Given the description of an element on the screen output the (x, y) to click on. 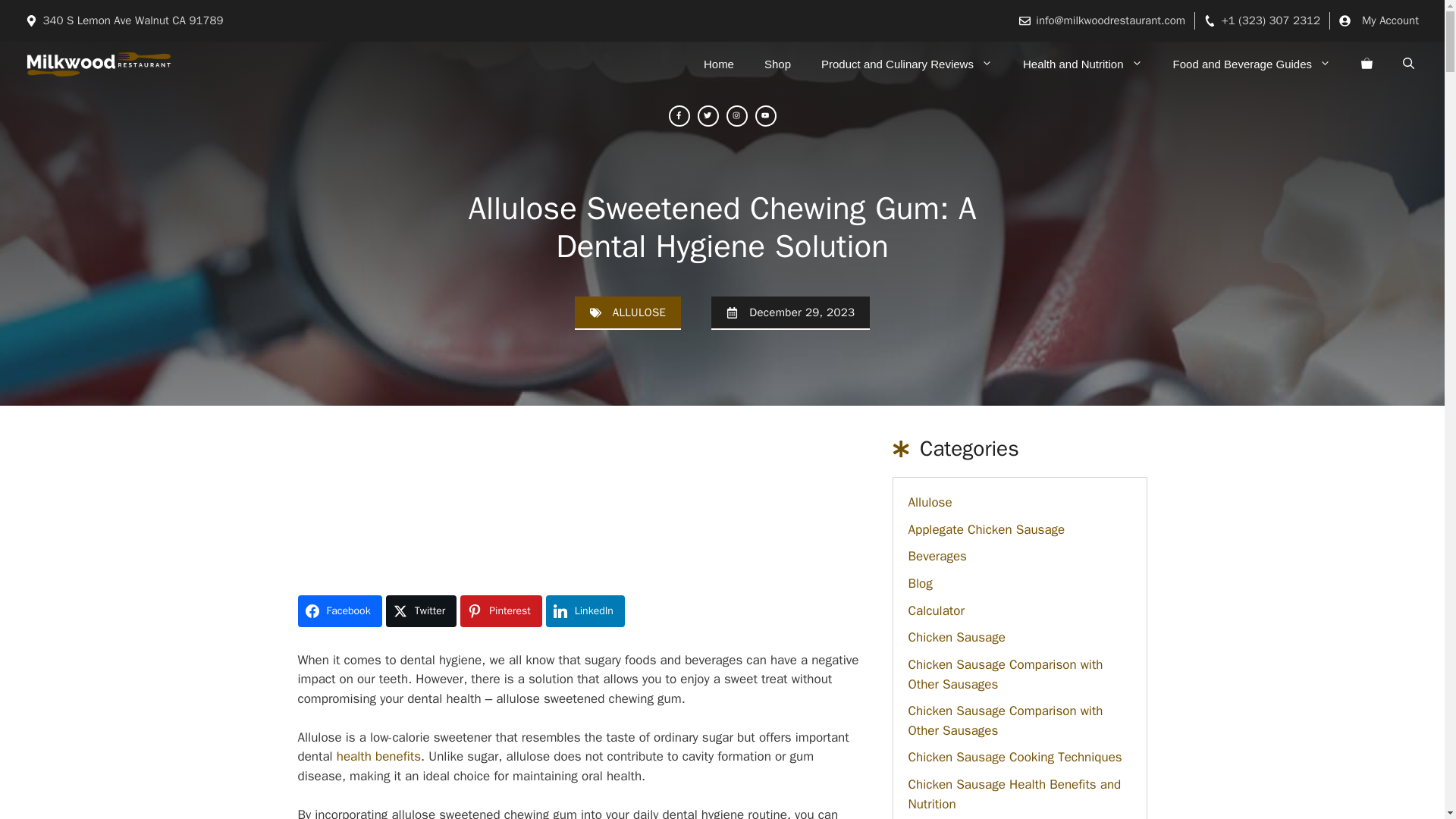
Share on LinkedIn (585, 611)
Share on Pinterest (500, 611)
View your shopping cart (1366, 63)
MilkwoodRestaurant (98, 63)
Share on Facebook (339, 611)
Share on Twitter (421, 611)
Food and Beverage Guides (1251, 63)
Home (718, 63)
My Account (1389, 20)
Shop (777, 63)
Health and Nutrition (1082, 63)
Product and Culinary Reviews (906, 63)
